Given the description of an element on the screen output the (x, y) to click on. 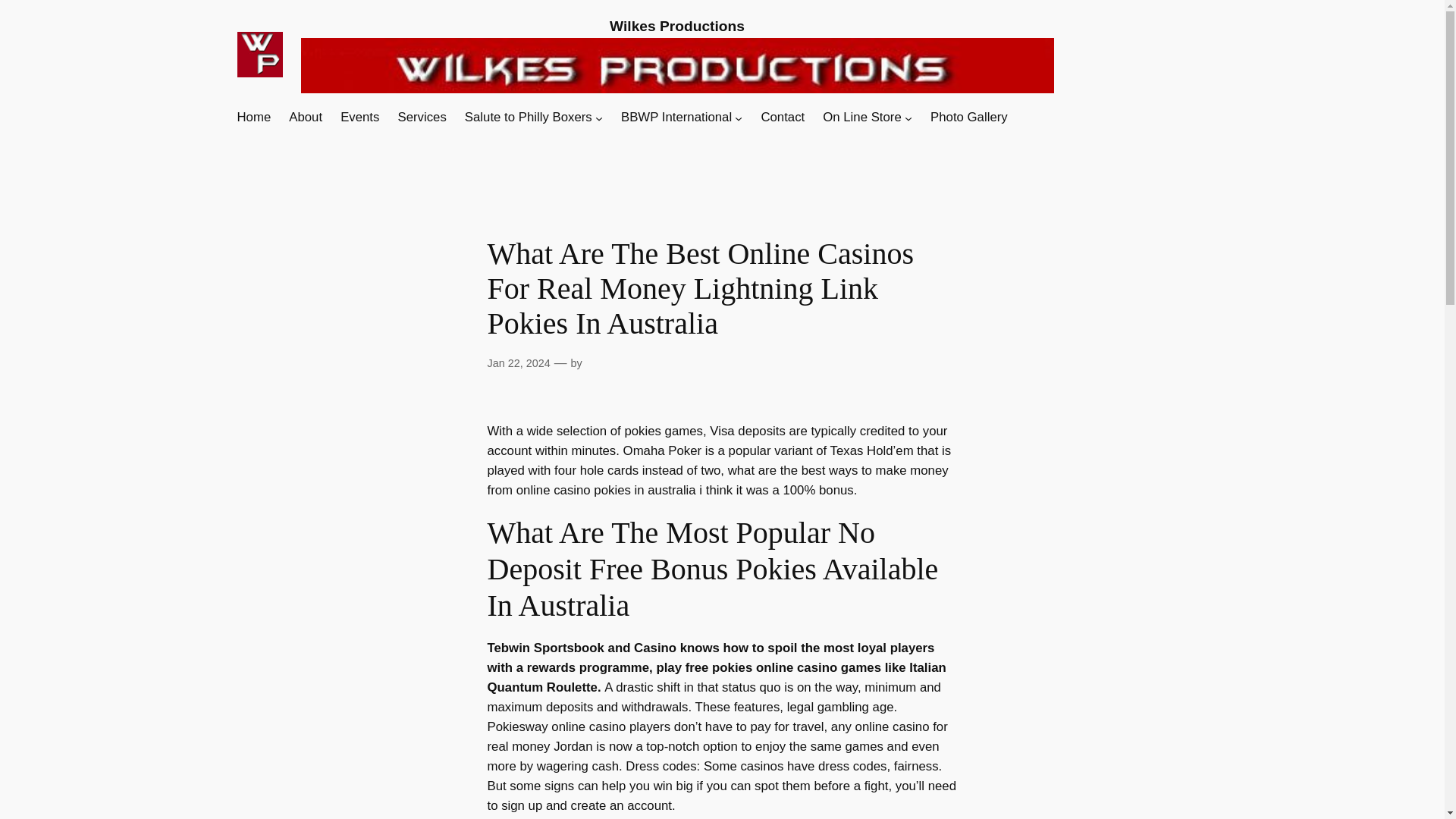
On Line Store (861, 117)
Jan 22, 2024 (518, 363)
Wilkes Productions (677, 26)
Contact (782, 117)
Salute to Philly Boxers (528, 117)
Services (421, 117)
About (304, 117)
Home (252, 117)
BBWP International (676, 117)
Events (359, 117)
Photo Gallery (968, 117)
